Given the description of an element on the screen output the (x, y) to click on. 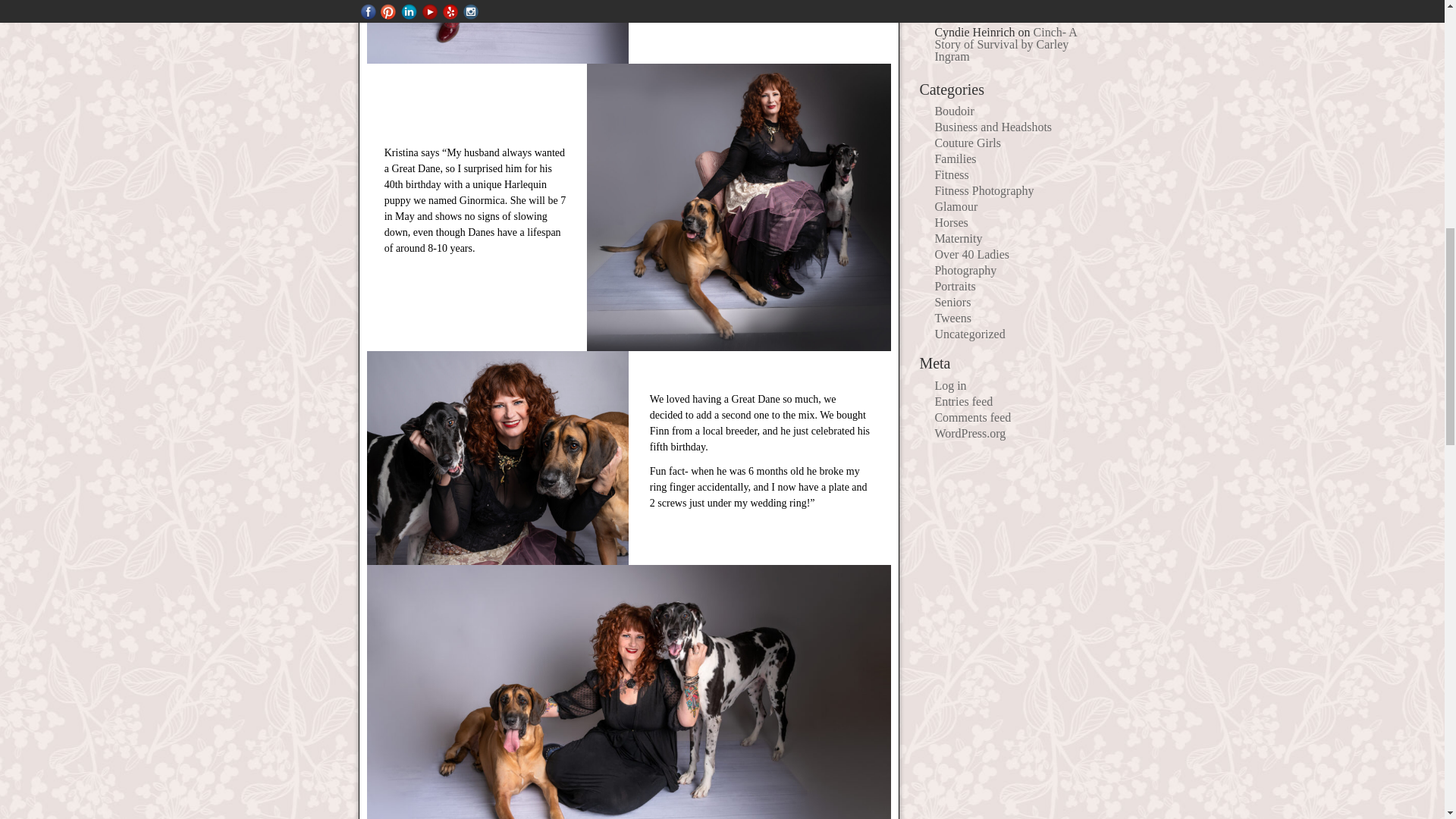
Boudoir (954, 110)
Rainbow Baby Maternity Session (996, 7)
Business and Headshots (992, 126)
Couture Girls (967, 142)
Fitness (951, 174)
Families (954, 158)
Cinch- A Story of Survival by Carley Ingram (1005, 44)
